Given the description of an element on the screen output the (x, y) to click on. 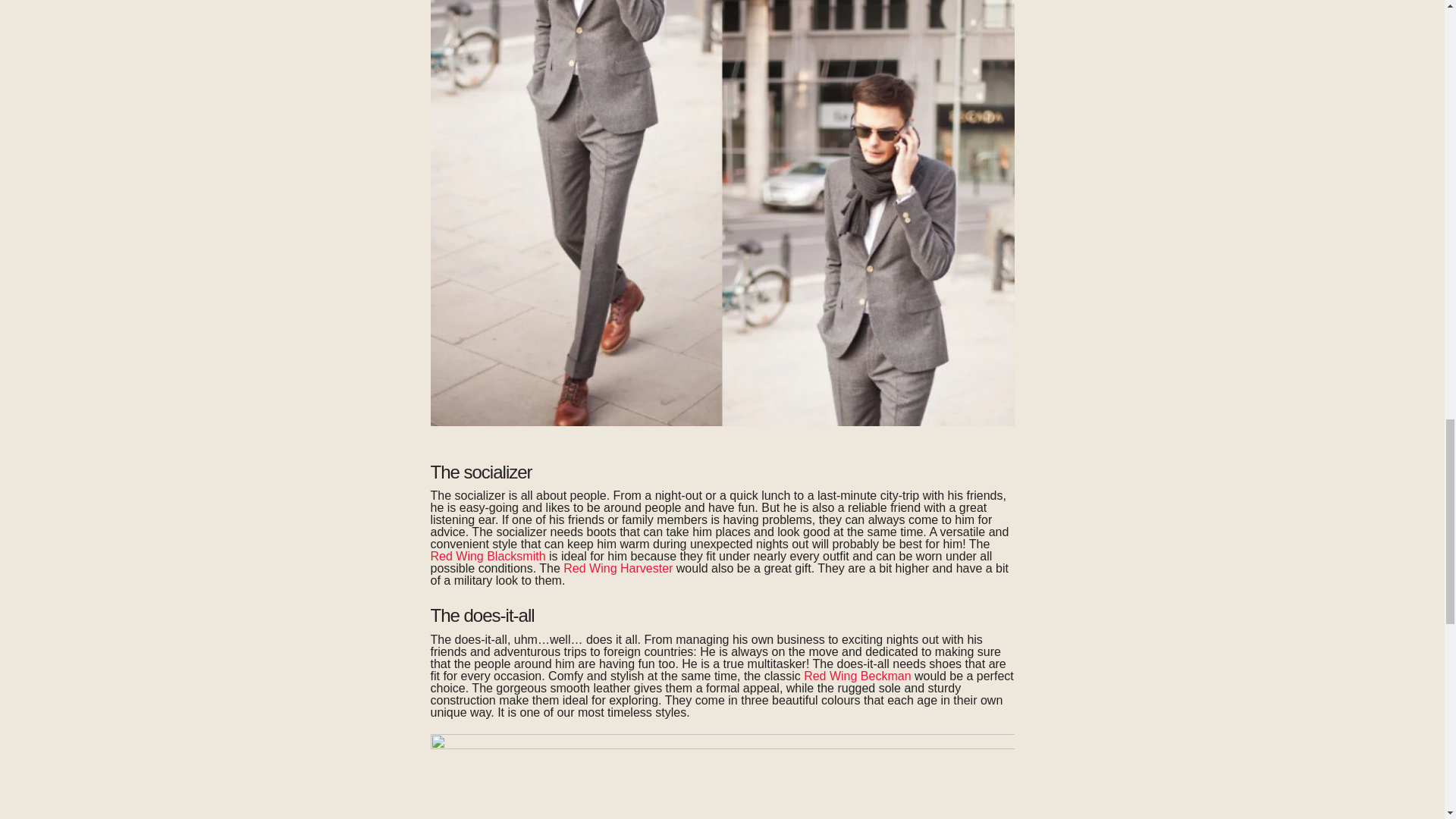
Red Wing Beckman (857, 675)
Red Wing Harvester (617, 567)
Red Wing Blacksmith (488, 555)
